Given the description of an element on the screen output the (x, y) to click on. 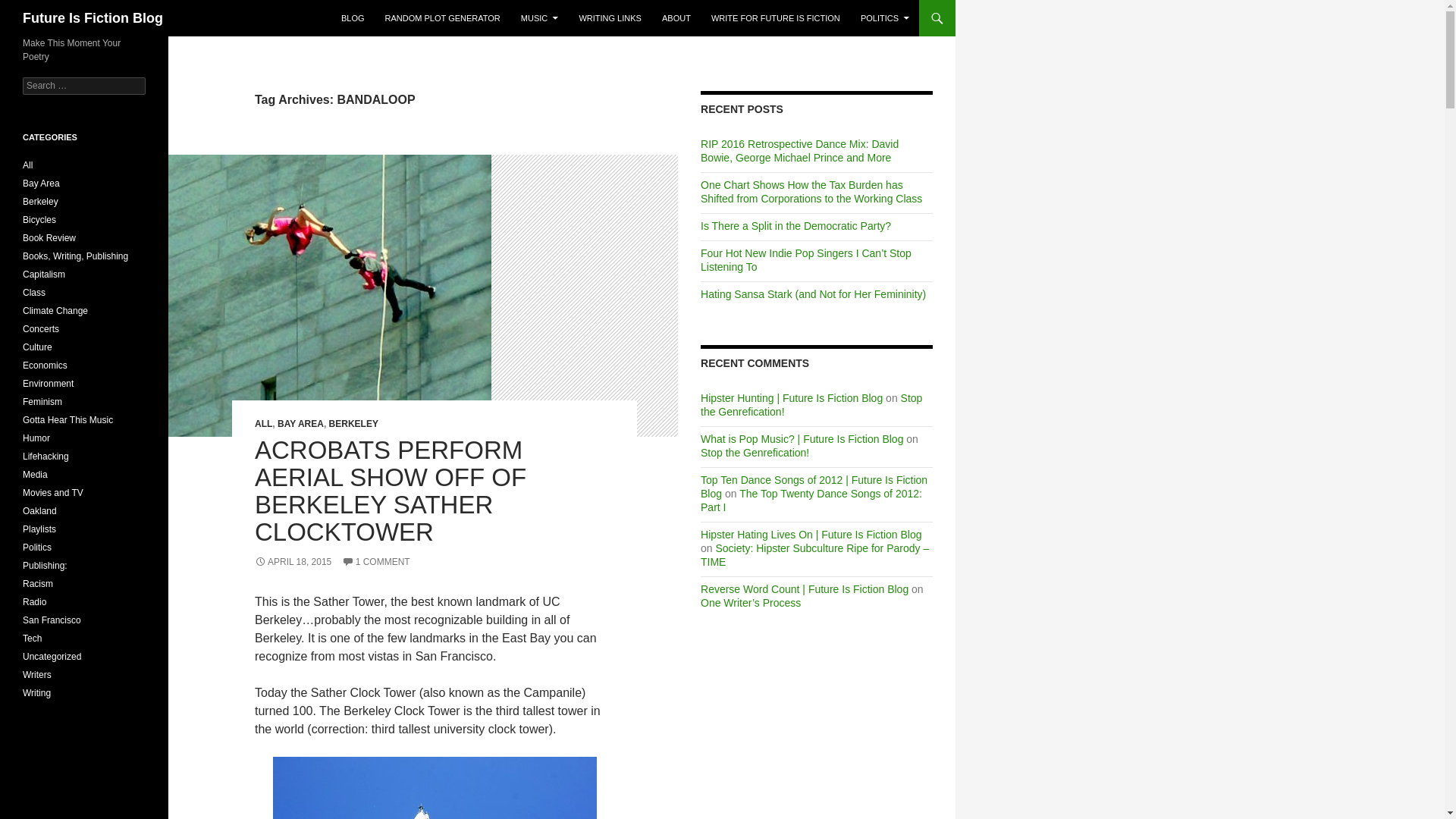
WRITING LINKS (609, 18)
POLITICS (884, 18)
BERKELEY (353, 423)
1 COMMENT (376, 561)
Future Is Fiction Blog (93, 18)
ALL (263, 423)
MUSIC (539, 18)
APRIL 18, 2015 (292, 561)
RANDOM PLOT GENERATOR (442, 18)
BLOG (352, 18)
ABOUT (676, 18)
WRITE FOR FUTURE IS FICTION (774, 18)
BAY AREA (300, 423)
